Given the description of an element on the screen output the (x, y) to click on. 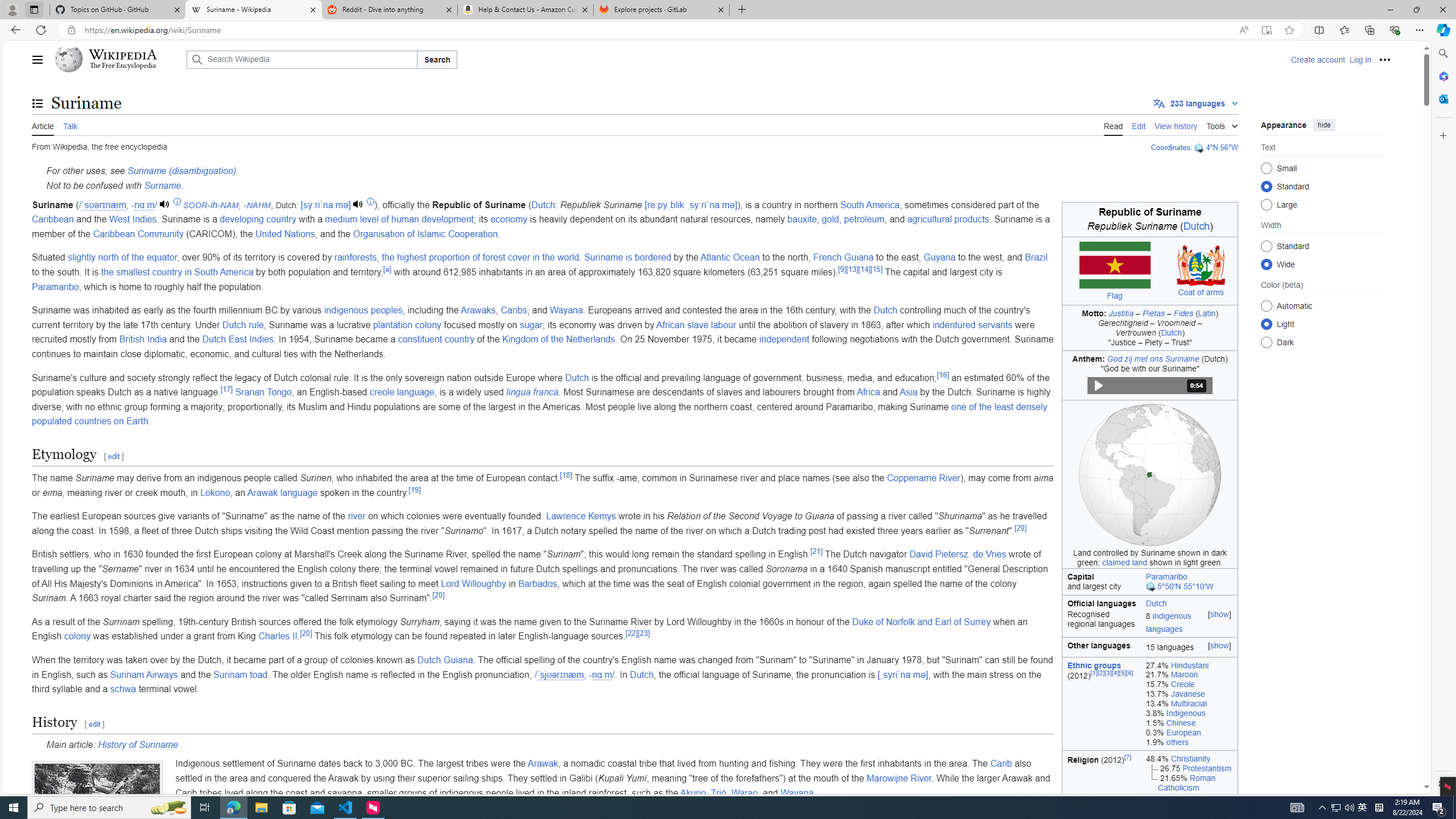
Caribs (513, 310)
Guyana (939, 257)
Surinam toad (239, 674)
Lokono (215, 492)
13.7% Javanese (1189, 694)
Lawrence Kemys (580, 516)
Pietas (1152, 312)
Duke of Norfolk and Earl of Surrey (920, 621)
[17] (225, 388)
1.5% Chinese (1189, 722)
